Given the description of an element on the screen output the (x, y) to click on. 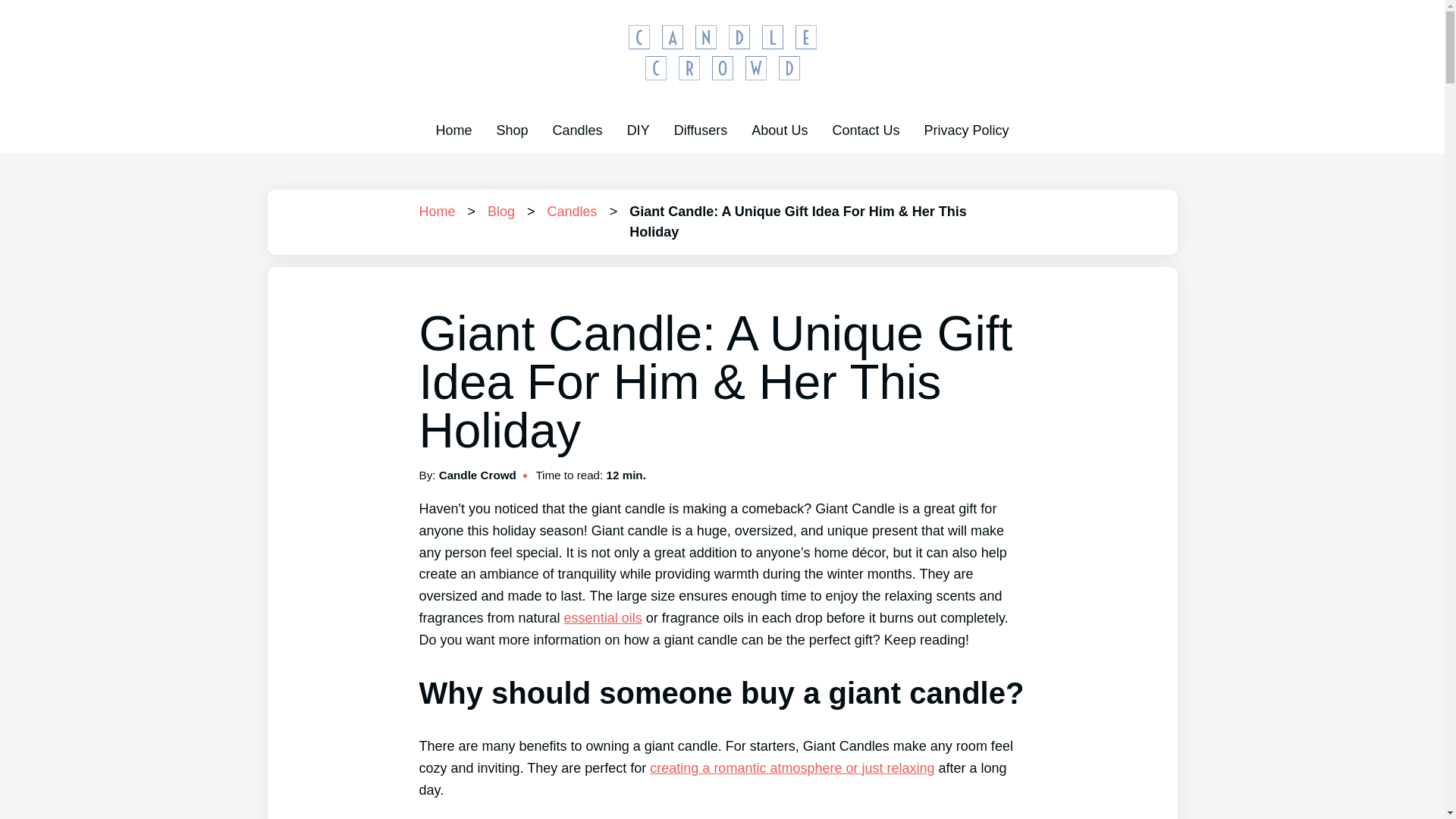
Candles (577, 130)
Home (436, 211)
Shop (512, 130)
Diffusers (701, 130)
essential oils (603, 617)
DIY (638, 130)
Contact Us (865, 130)
Home (436, 211)
Privacy Policy (966, 130)
Blog (501, 211)
